Given the description of an element on the screen output the (x, y) to click on. 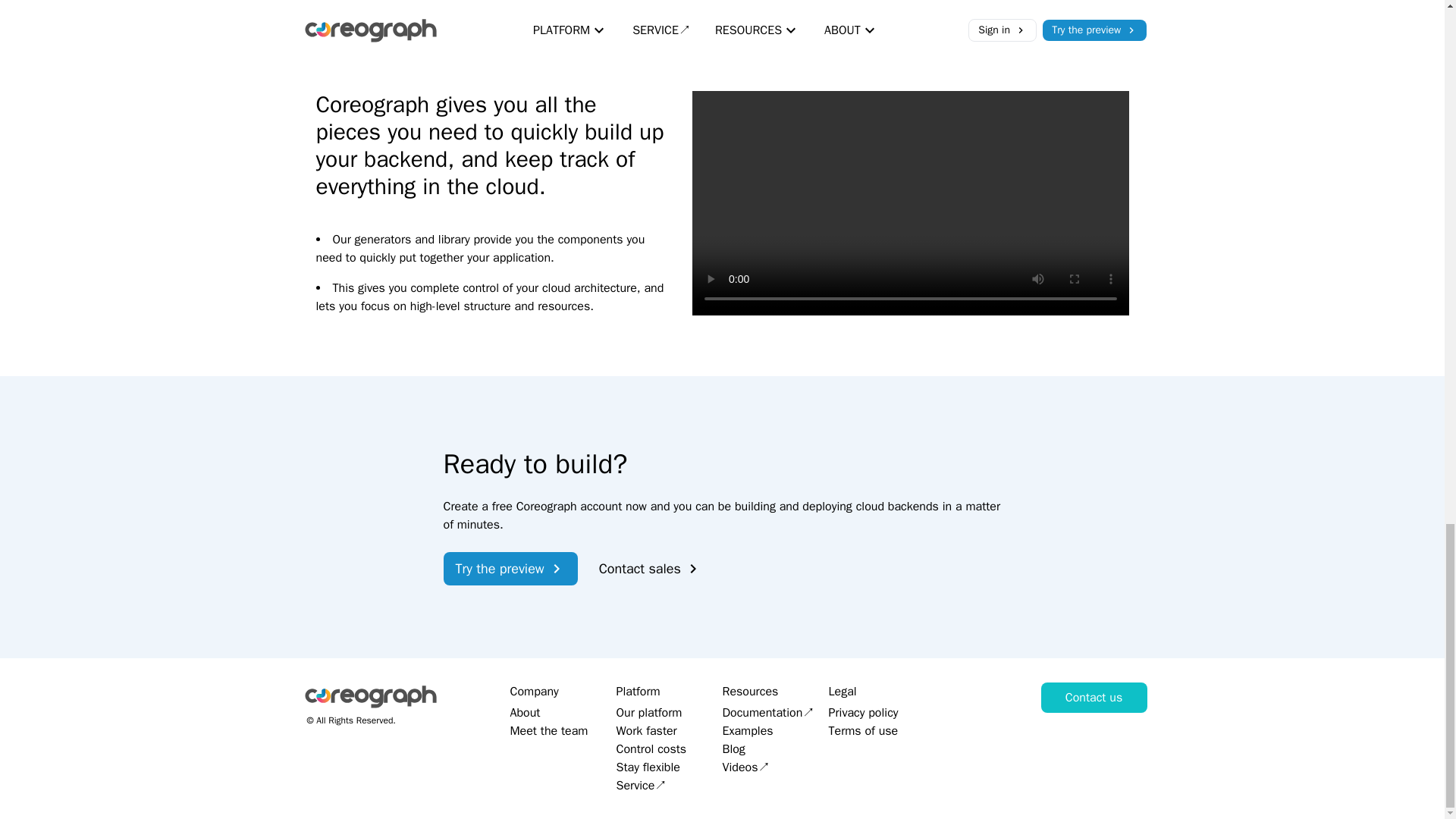
Contact sales (650, 568)
About (524, 712)
Monitor (1033, 23)
Assemble (409, 23)
Our platform (648, 712)
Deploy (826, 23)
Meet the team (548, 730)
Work faster (646, 730)
Customize (617, 23)
Try the preview (509, 568)
